Given the description of an element on the screen output the (x, y) to click on. 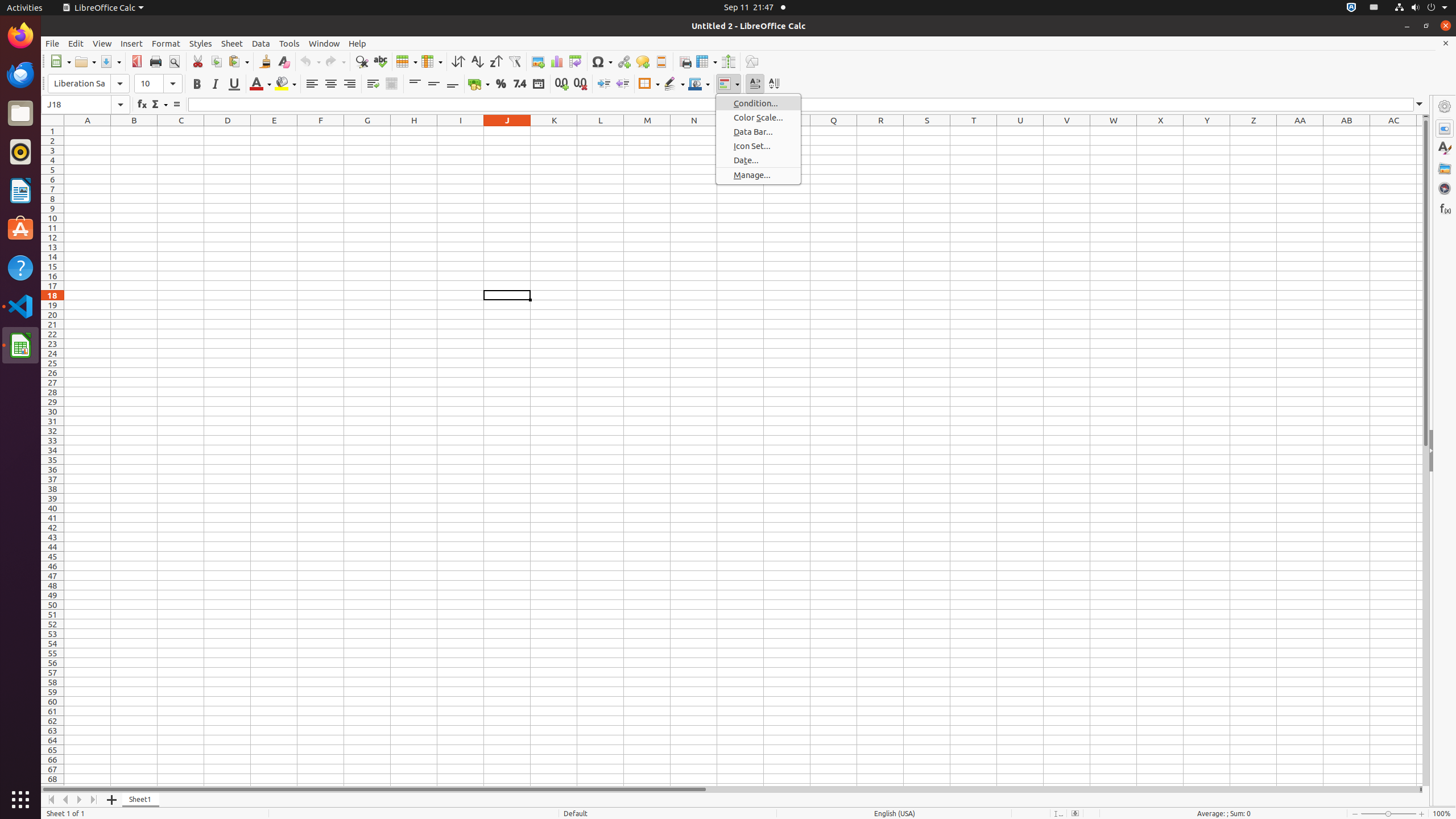
Trash Element type: label (75, 108)
